Given the description of an element on the screen output the (x, y) to click on. 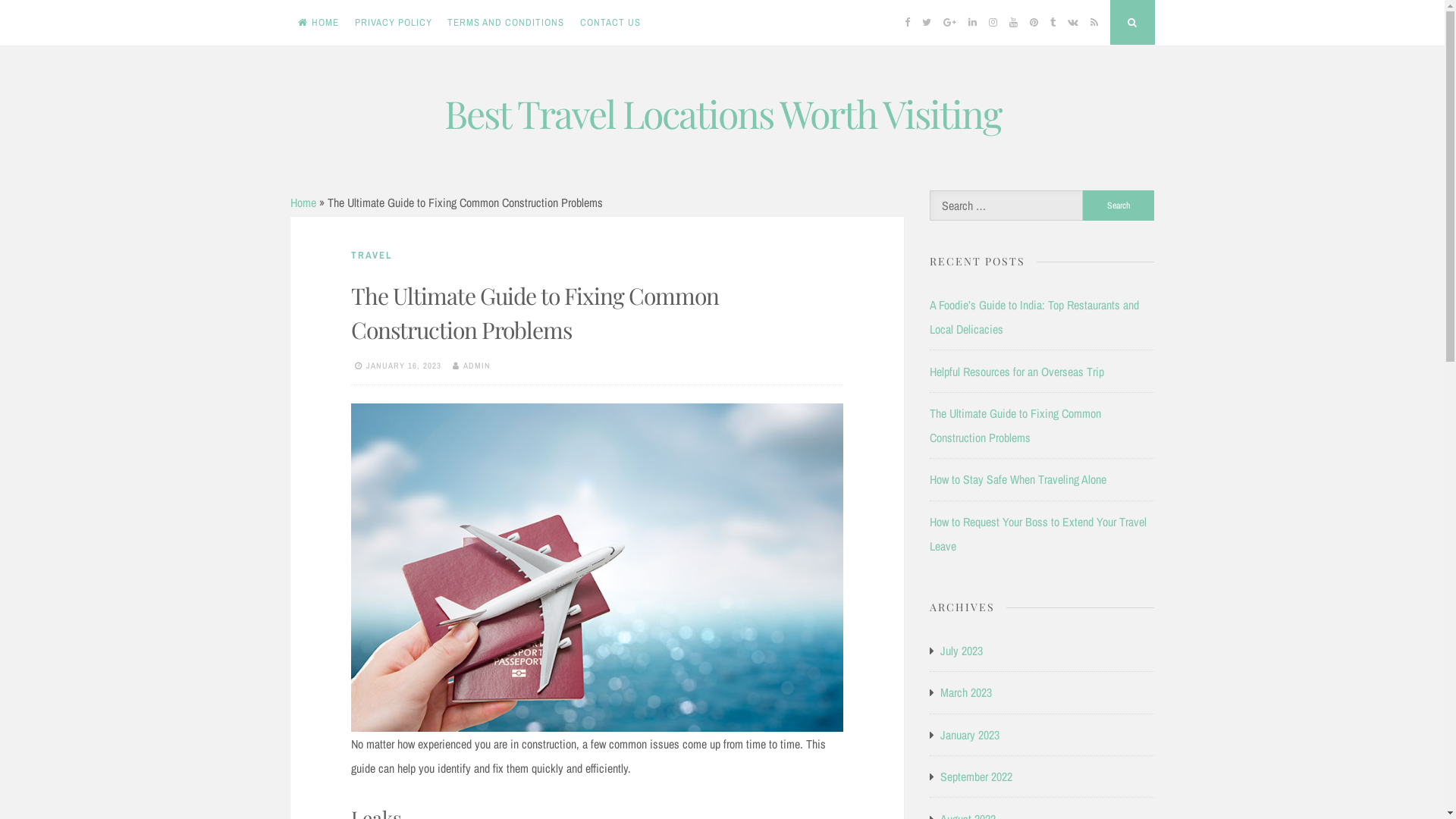
How to Stay Safe When Traveling Alone Element type: text (1017, 478)
September 2022 Element type: text (976, 776)
Google Plus Element type: text (949, 22)
Instagram Element type: text (992, 22)
How to Request Your Boss to Extend Your Travel Leave Element type: text (1037, 533)
Linkedin Element type: text (972, 22)
TRAVEL Element type: text (371, 254)
RSS Element type: text (1093, 22)
January 2023 Element type: text (969, 734)
Skip to content Element type: text (289, 84)
Tumblr Element type: text (1052, 22)
JANUARY 16, 2023 Element type: text (402, 365)
HOME Element type: text (317, 22)
Home Element type: text (302, 202)
Twitter Element type: text (925, 22)
Pinterest Element type: text (1033, 22)
Best Travel Locations Worth Visiting Element type: text (722, 112)
Helpful Resources for an Overseas Trip Element type: text (1016, 371)
Search Element type: text (1118, 205)
CONTACT US Element type: text (610, 22)
YouTube Element type: text (1013, 22)
Facebook Element type: text (906, 22)
The Ultimate Guide to Fixing Common Construction Problems Element type: text (1015, 424)
July 2023 Element type: text (961, 650)
PRIVACY POLICY Element type: text (392, 22)
ADMIN Element type: text (475, 365)
VK Element type: text (1072, 22)
TERMS AND CONDITIONS Element type: text (505, 22)
March 2023 Element type: text (965, 692)
